Given the description of an element on the screen output the (x, y) to click on. 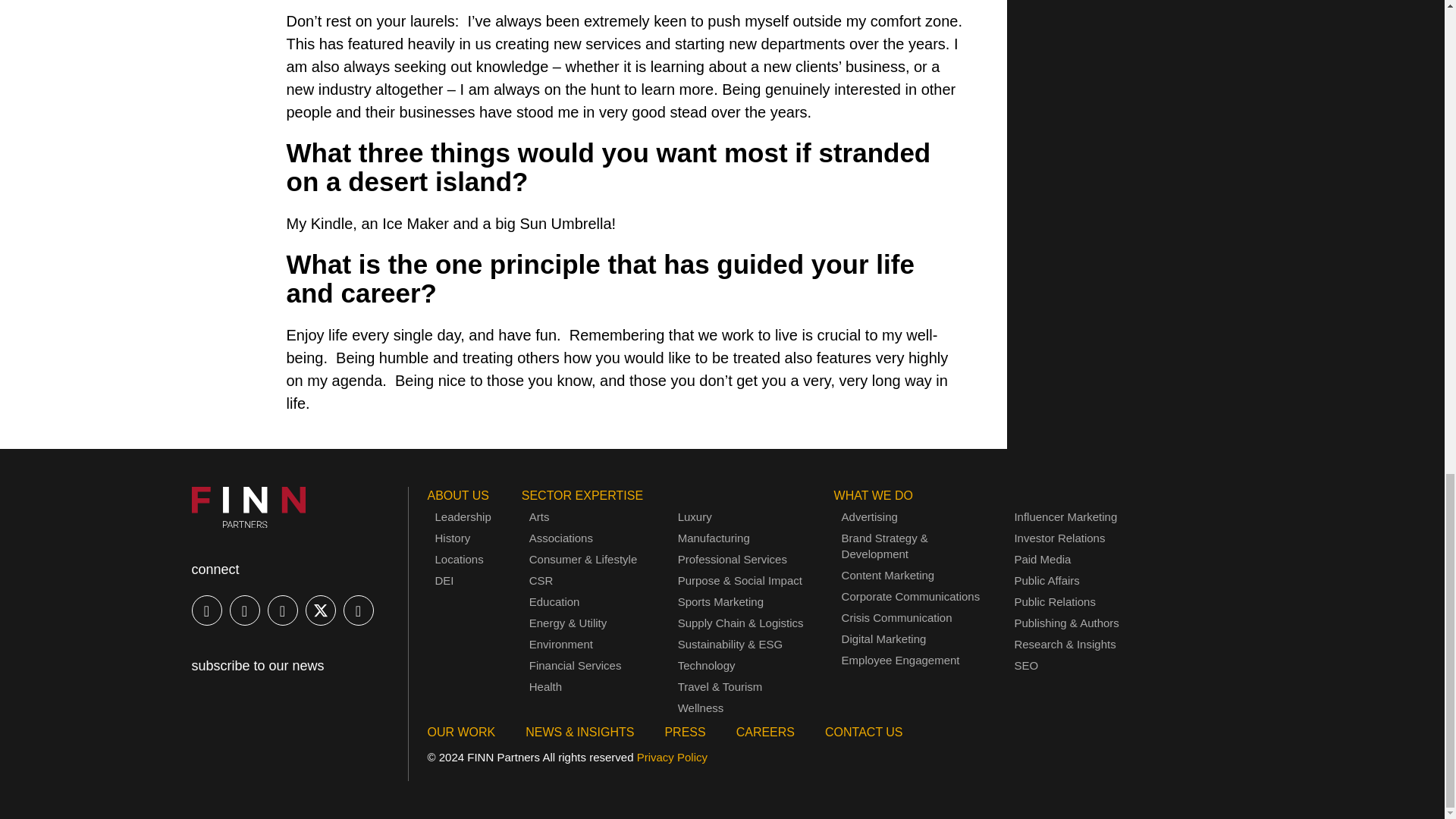
Associations (560, 537)
Connect with us on Facebook (243, 610)
Connect with us on LinkedIn (205, 610)
Education (554, 601)
CSR (541, 580)
Arts (539, 516)
ABOUT US (458, 495)
Follow us on Twitter (319, 610)
Leadership (463, 516)
DEI (463, 580)
